Given the description of an element on the screen output the (x, y) to click on. 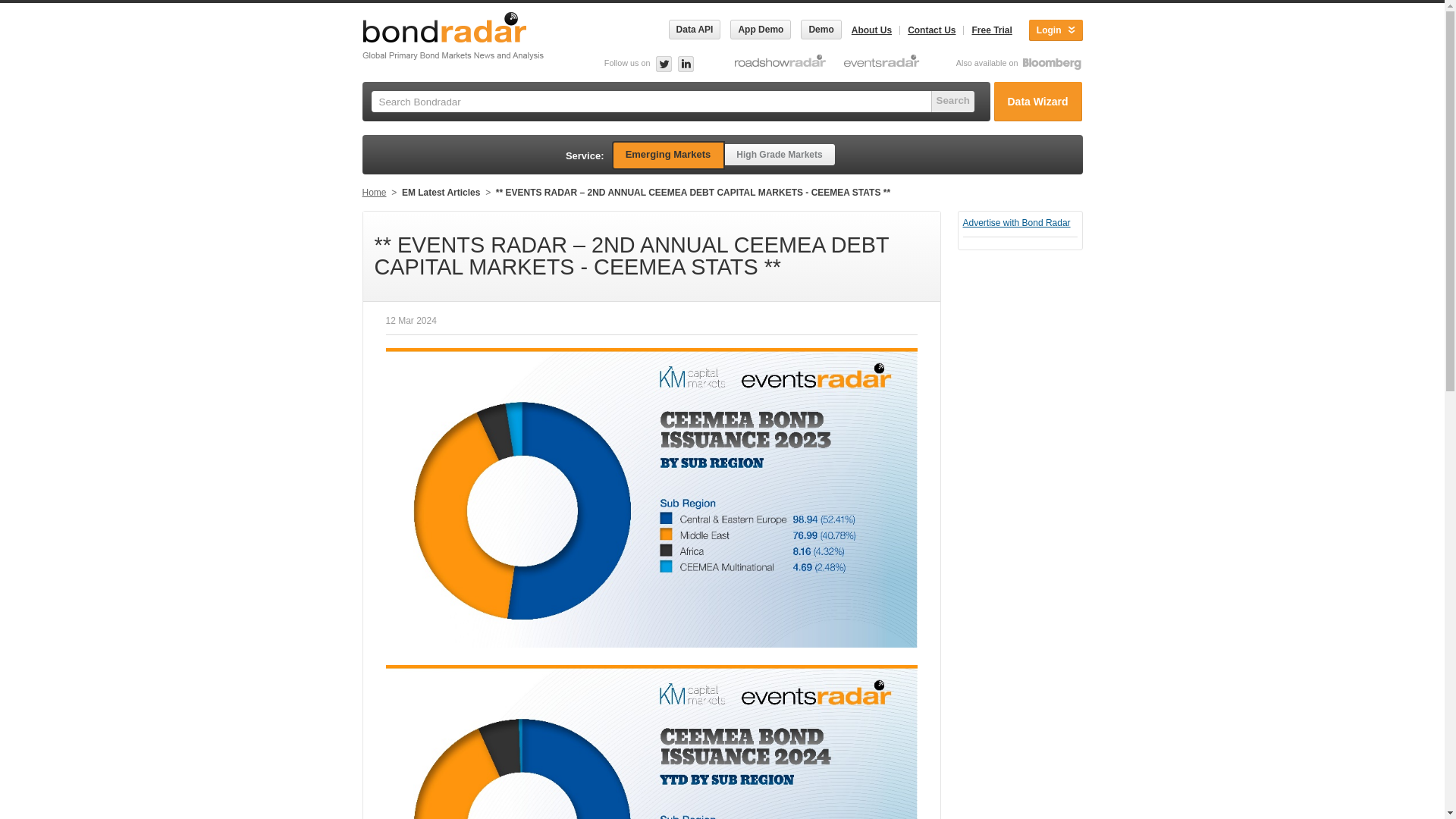
About Us (871, 30)
Login (1056, 29)
Emerging Markets (667, 154)
EM Latest Articles (440, 192)
Data API (693, 29)
Data Wizard (1036, 101)
High Grade Markets (779, 155)
Contact Us (931, 30)
Search (952, 101)
Home (374, 192)
Advertise with Bond Radar (1016, 222)
App Demo (759, 29)
Demo (820, 29)
Free Trial (991, 30)
